Given the description of an element on the screen output the (x, y) to click on. 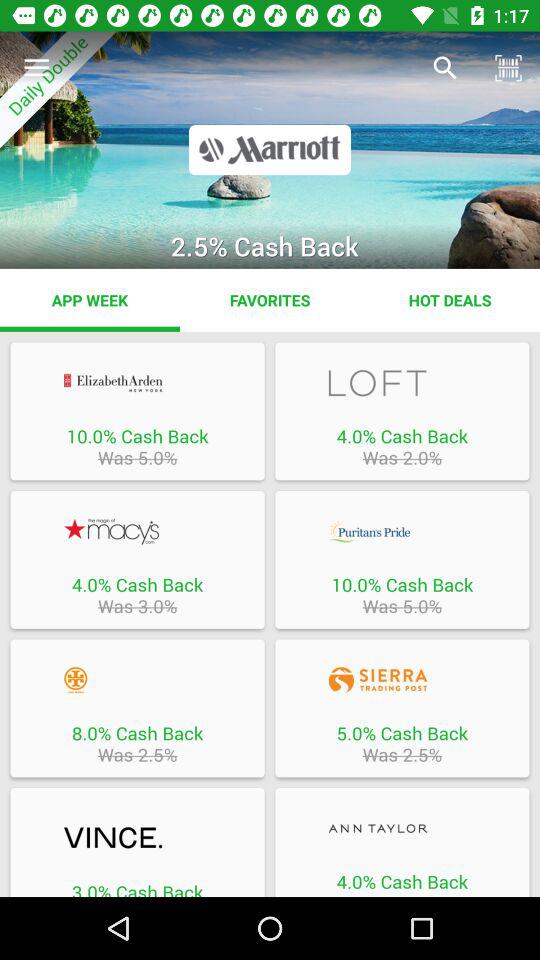
turn on the app week app (90, 299)
